Given the description of an element on the screen output the (x, y) to click on. 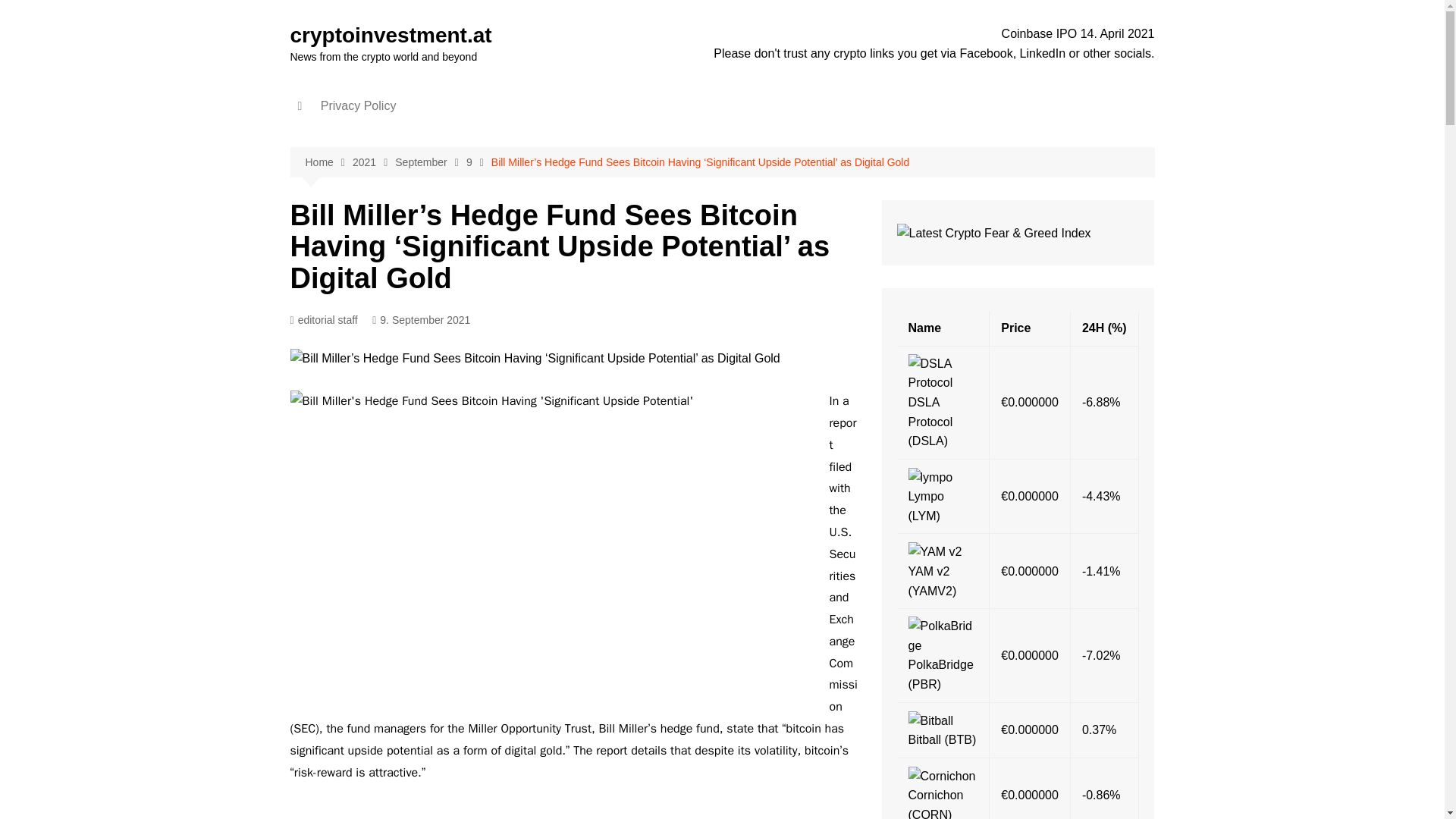
9. September 2021 (421, 320)
September (429, 162)
2021 (373, 162)
9 (478, 162)
editorial staff (322, 320)
Privacy Policy (358, 105)
cryptoinvestment.at (390, 34)
Home (328, 162)
